Given the description of an element on the screen output the (x, y) to click on. 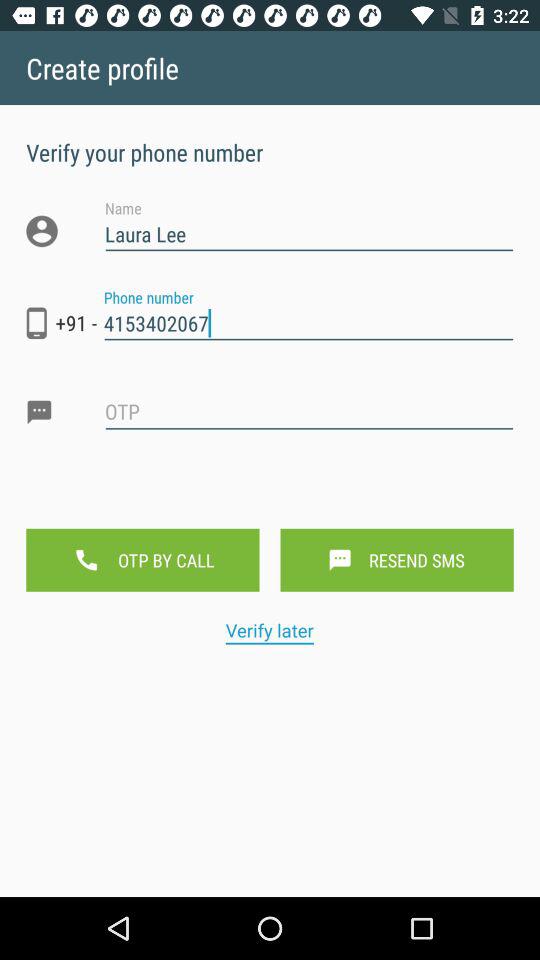
comment text box (309, 428)
